Given the description of an element on the screen output the (x, y) to click on. 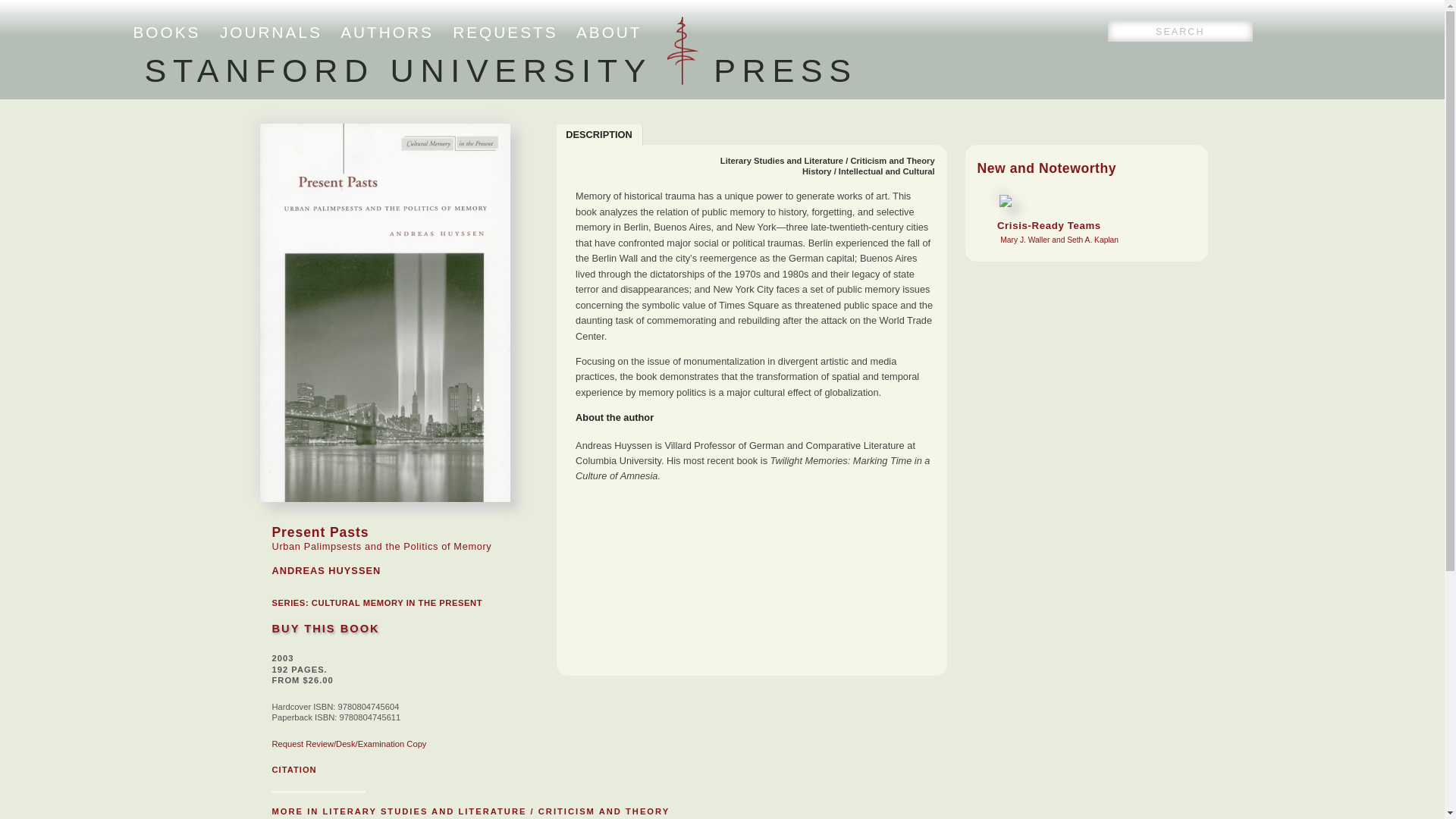
DESCRIPTION (599, 134)
AUTHORS (386, 31)
BOOKS (166, 31)
CITATION (292, 768)
ABOUT (609, 31)
JOURNALS (270, 31)
REQUESTS (504, 31)
BUY THIS BOOK (324, 628)
CULTURAL MEMORY IN THE PRESENT (396, 602)
STANFORD UNIVERSITY PRESS (500, 70)
